Given the description of an element on the screen output the (x, y) to click on. 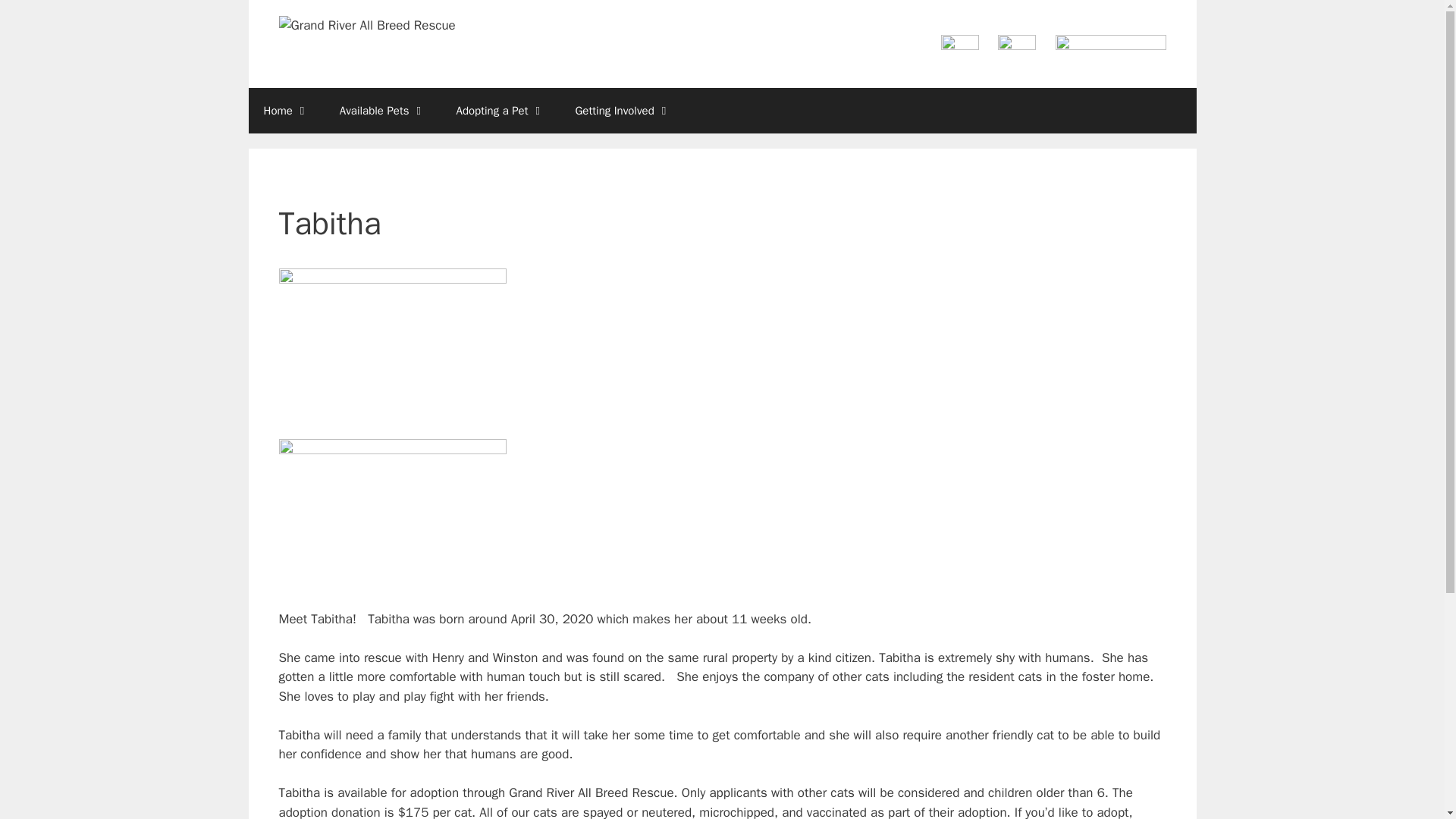
Getting Involved (622, 110)
Available Pets (382, 110)
Adopting a Pet (500, 110)
Home (286, 110)
